Given the description of an element on the screen output the (x, y) to click on. 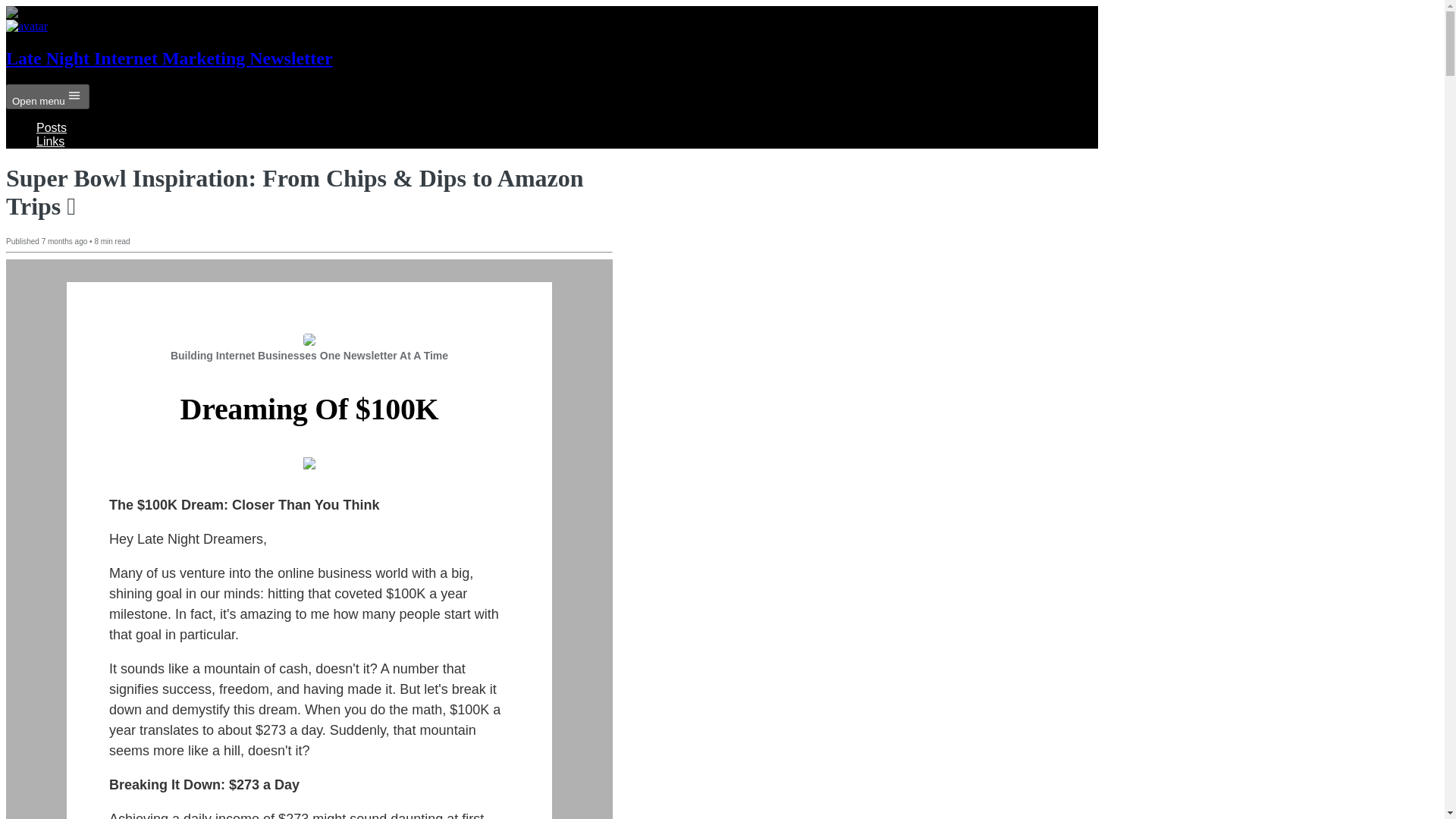
Late Night Internet Marketing Newsletter (169, 57)
Links (50, 141)
Open menuMenu (46, 96)
Posts (51, 127)
Menu (73, 95)
